Given the description of an element on the screen output the (x, y) to click on. 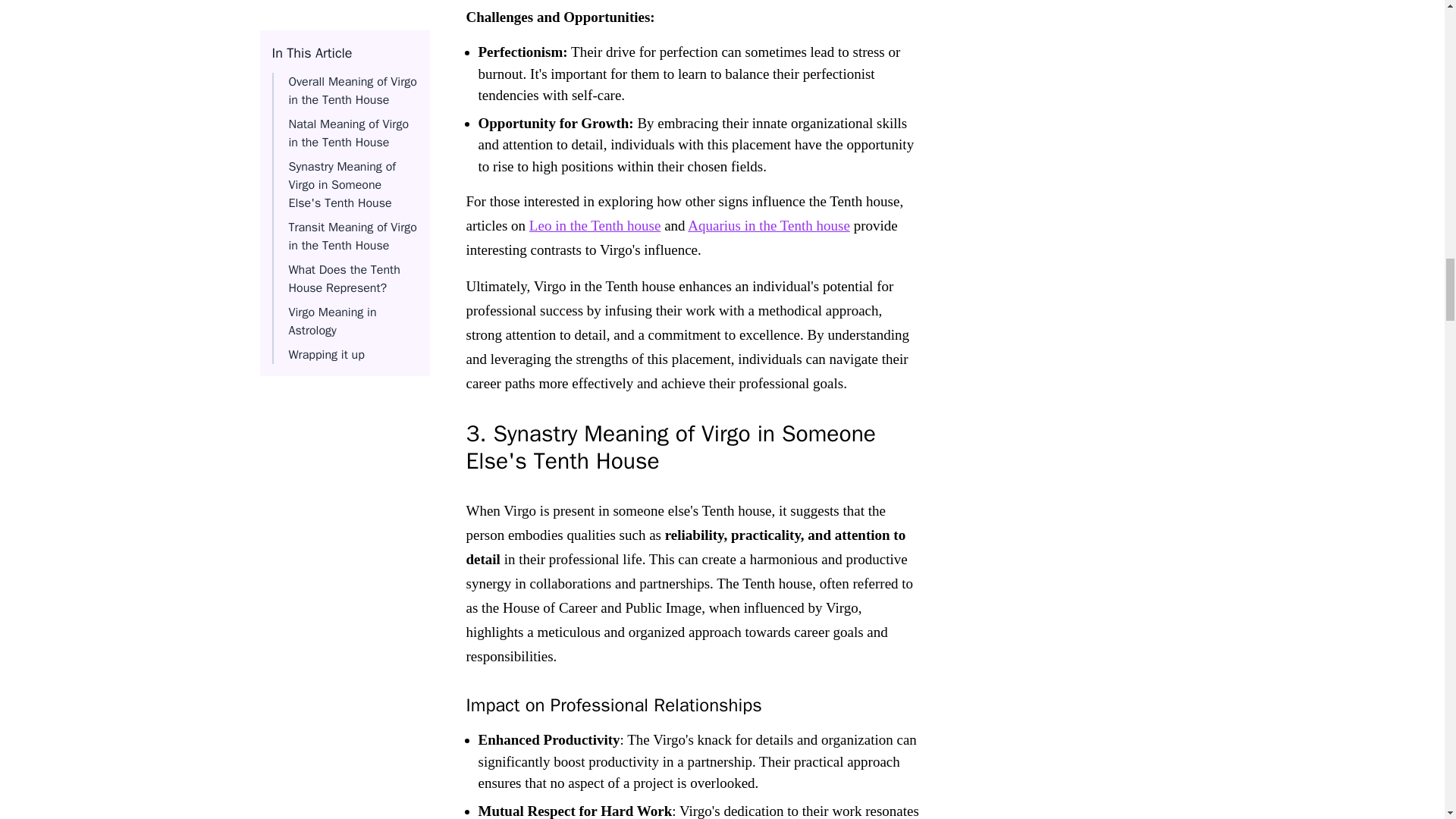
Aquarius in the Tenth house (768, 225)
Leo in the Tenth house (595, 225)
